Given the description of an element on the screen output the (x, y) to click on. 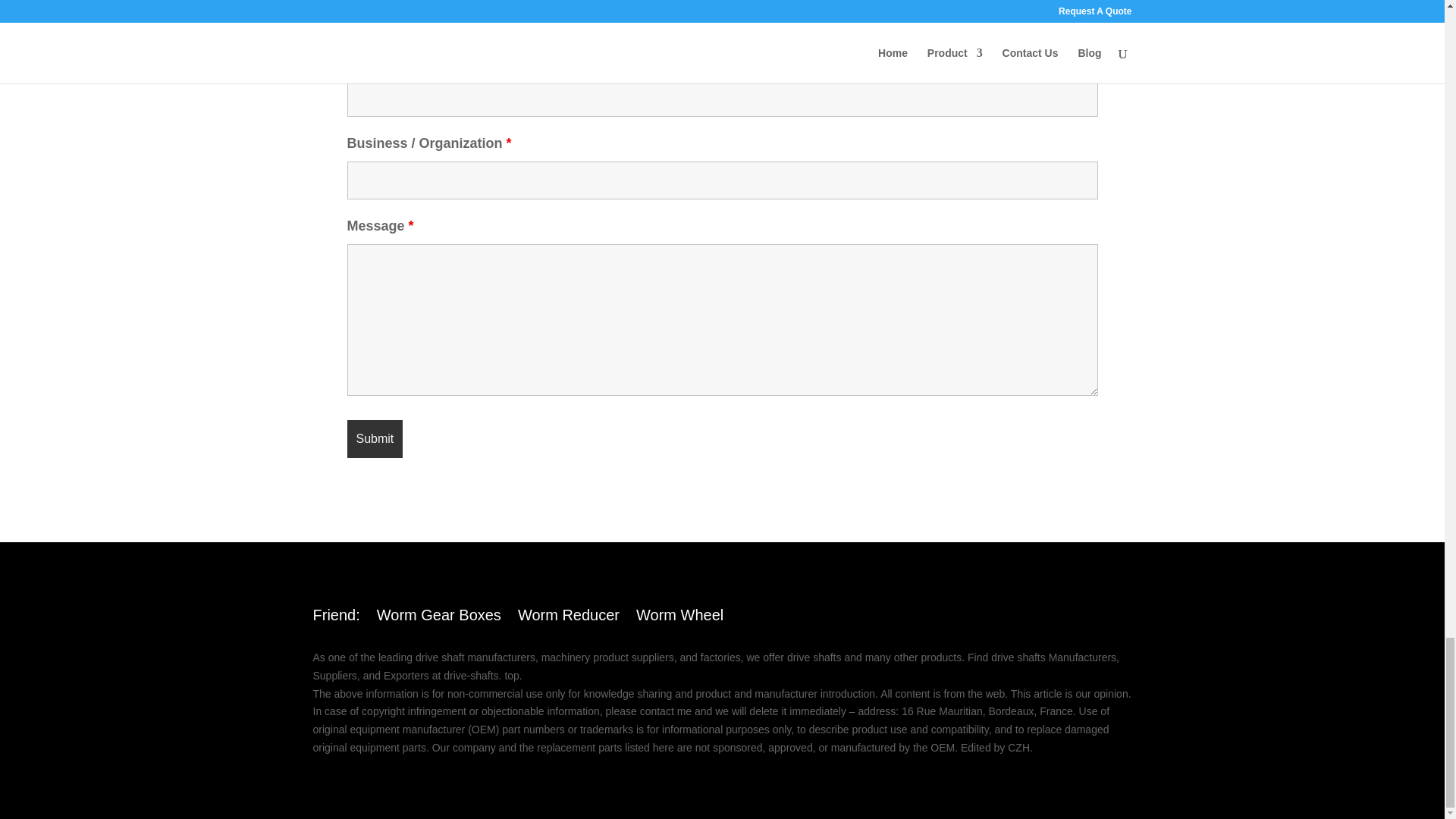
Submit (375, 438)
